Given the description of an element on the screen output the (x, y) to click on. 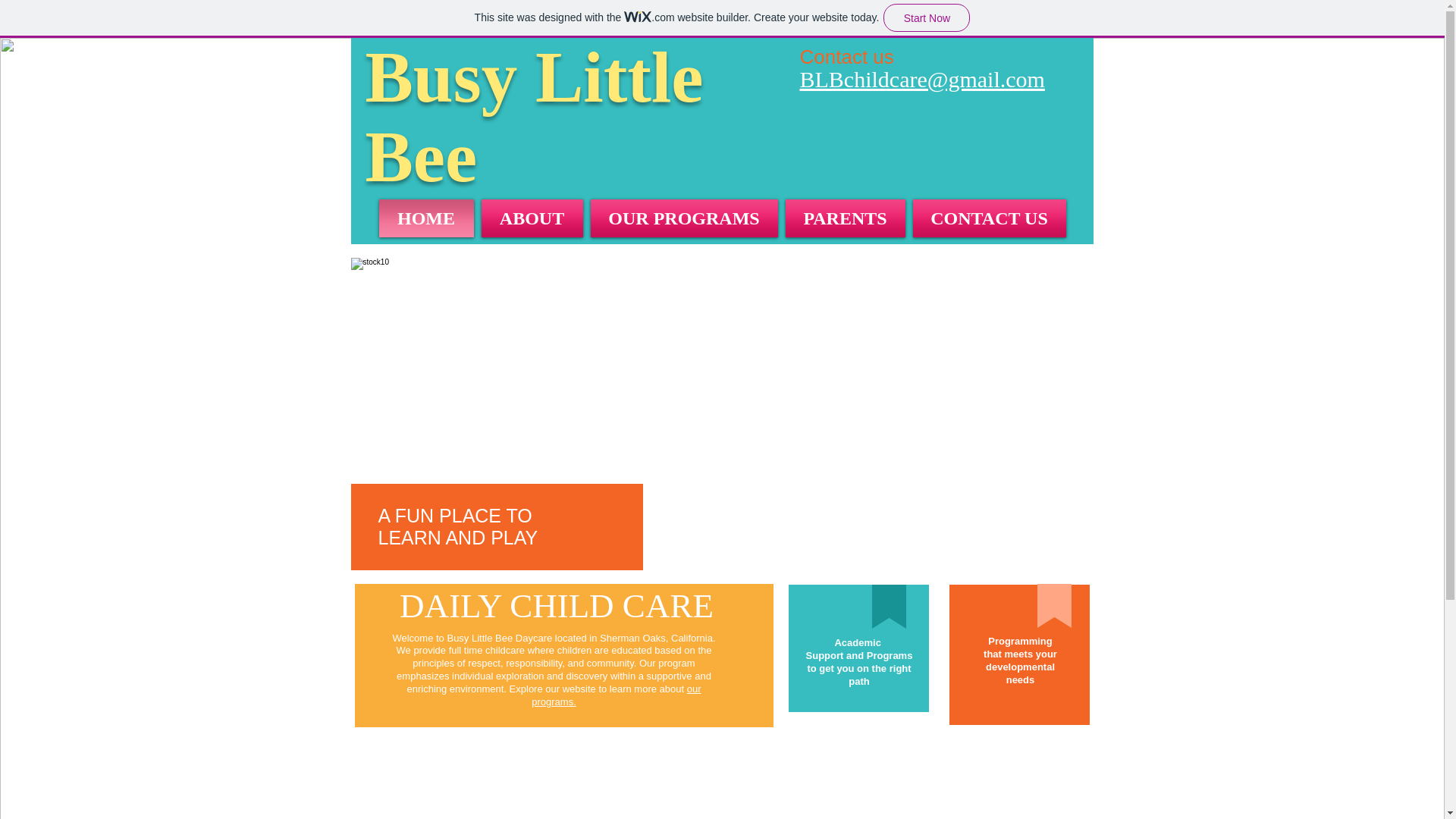
OUR PROGRAMS (683, 218)
CONTACT US (986, 218)
PARENTS (844, 218)
Busy Little Bee (534, 116)
HOME (427, 218)
our programs. (615, 695)
ABOUT (531, 218)
